Given the description of an element on the screen output the (x, y) to click on. 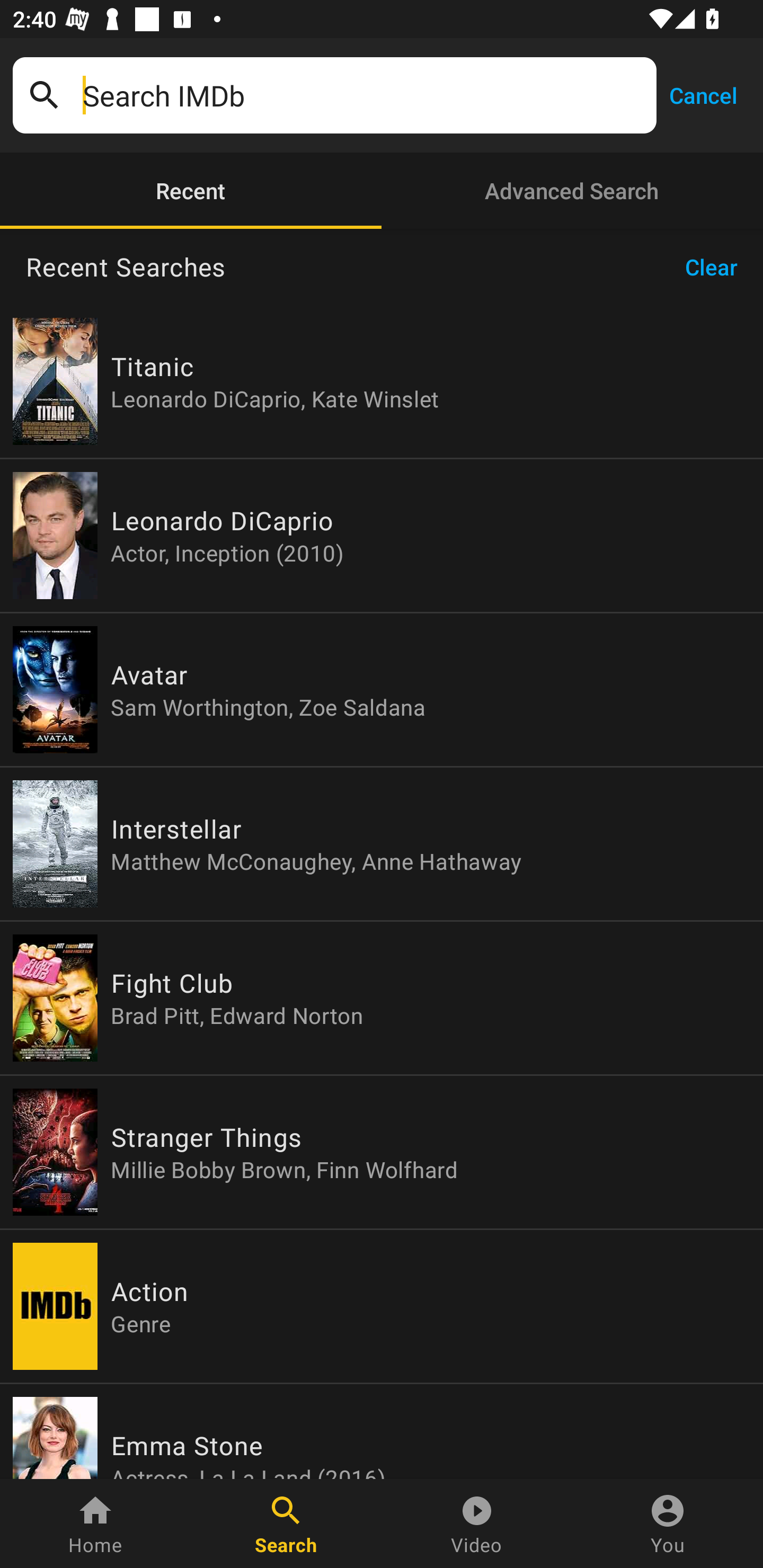
Cancel (703, 94)
Search IMDb (363, 95)
Advanced Search (572, 190)
Clear (717, 266)
Titanic Leonardo DiCaprio, Kate Winslet (381, 381)
Leonardo DiCaprio Actor, Inception (2010) (381, 535)
Avatar Sam Worthington, Zoe Saldana (381, 689)
Interstellar Matthew McConaughey, Anne Hathaway (381, 844)
Fight Club Brad Pitt, Edward Norton (381, 997)
Stranger Things Millie Bobby Brown, Finn Wolfhard (381, 1151)
Action Genre (381, 1305)
Emma Stone Actress, La La Land (2016) (381, 1431)
Home (95, 1523)
Video (476, 1523)
You (667, 1523)
